Given the description of an element on the screen output the (x, y) to click on. 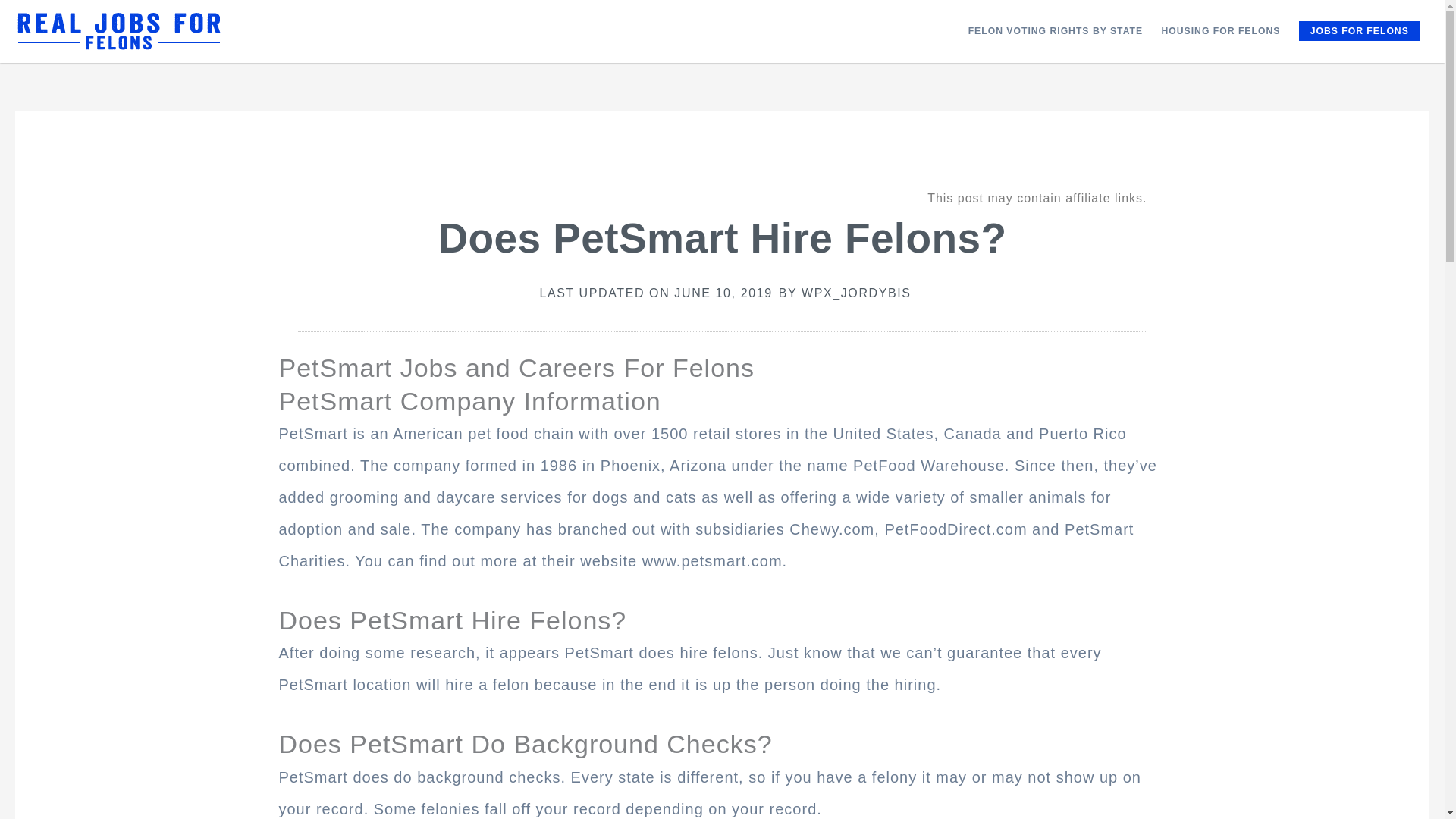
JOBS FOR FELONS (1359, 30)
HOUSING FOR FELONS (1219, 30)
FELON VOTING RIGHTS BY STATE (1054, 30)
